Given the description of an element on the screen output the (x, y) to click on. 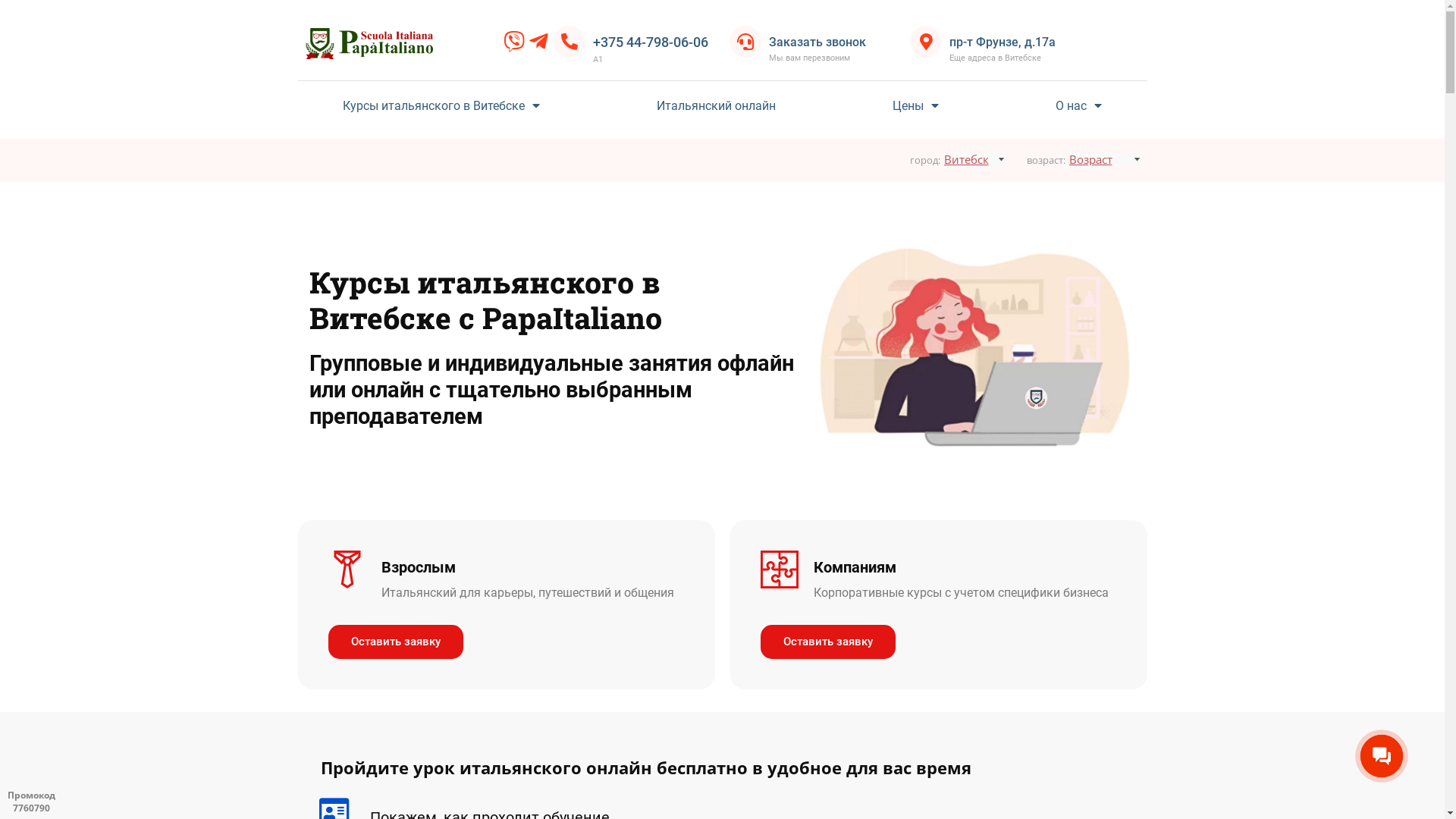
+375 44-798-06-06 Element type: text (650, 42)
